Given the description of an element on the screen output the (x, y) to click on. 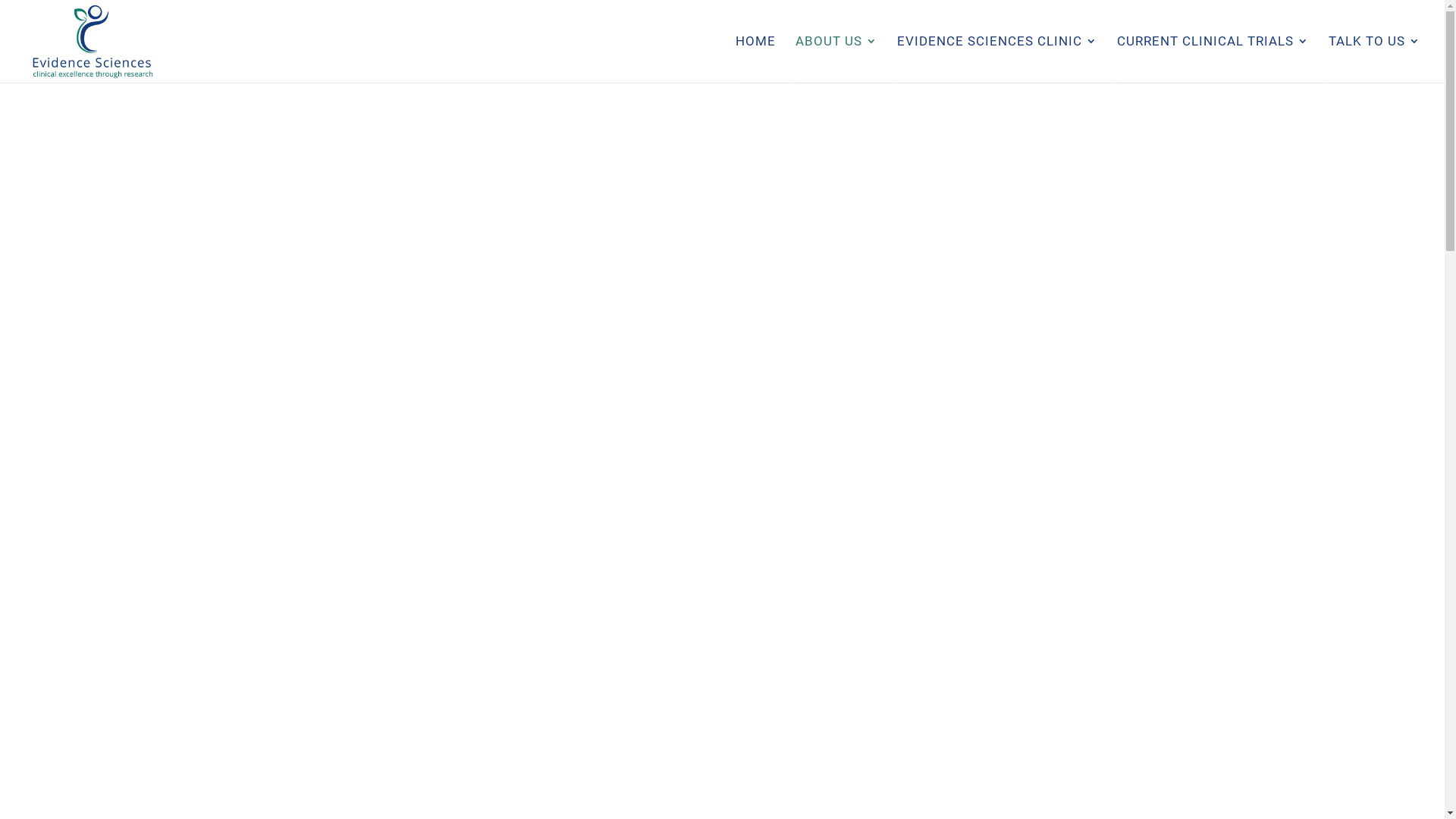
CURRENT CLINICAL TRIALS Element type: text (1212, 58)
ABOUT US Element type: text (836, 58)
TALK TO US Element type: text (1374, 58)
HOME Element type: text (755, 58)
EVIDENCE SCIENCES CLINIC Element type: text (997, 58)
